Given the description of an element on the screen output the (x, y) to click on. 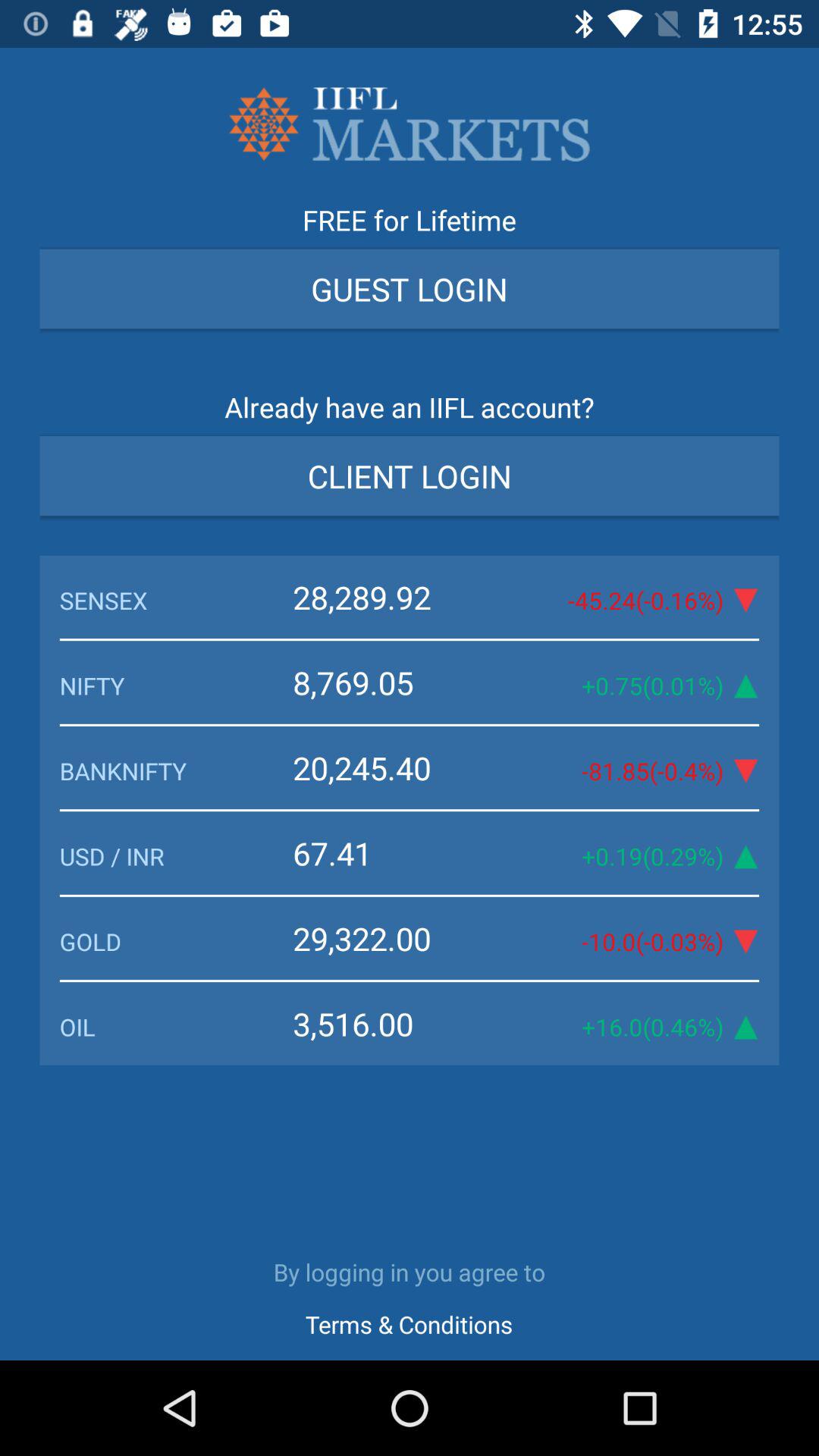
swipe to gold (175, 941)
